Given the description of an element on the screen output the (x, y) to click on. 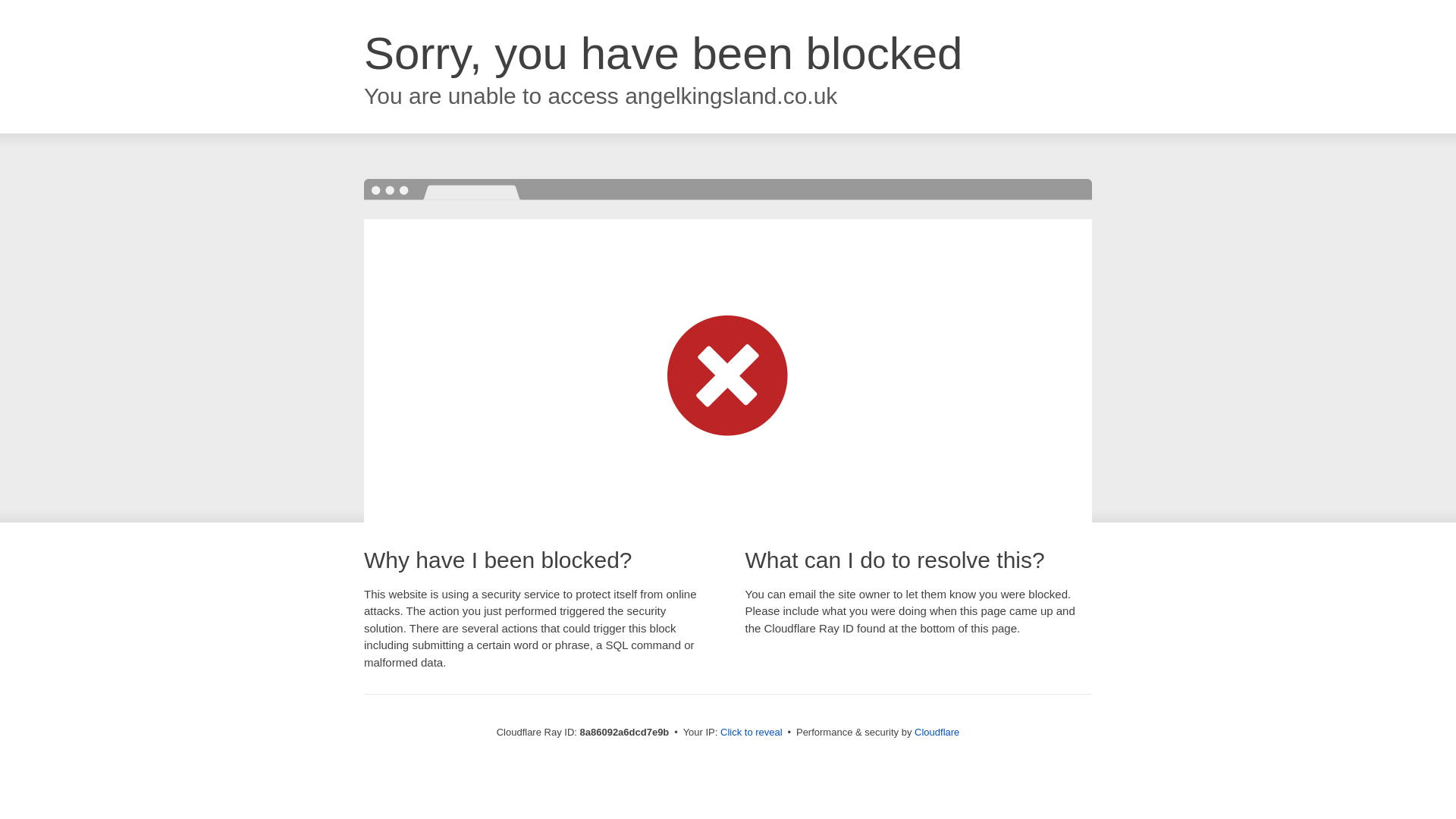
Cloudflare (936, 731)
Click to reveal (751, 732)
